Given the description of an element on the screen output the (x, y) to click on. 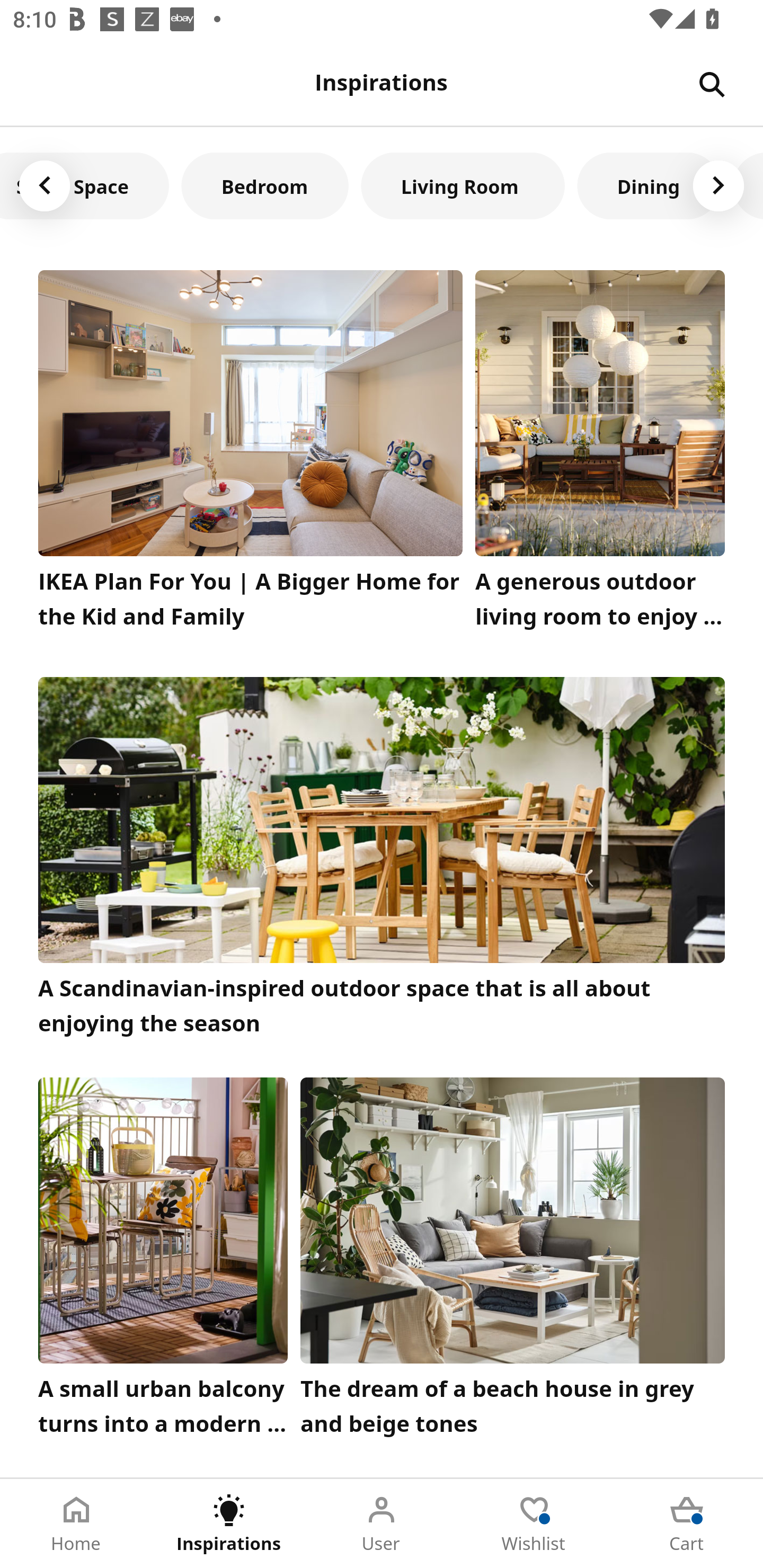
Bedroom (264, 185)
Living Room  (462, 185)
The dream of a beach house in grey and beige tones (512, 1261)
Home
Tab 1 of 5 (76, 1522)
Inspirations
Tab 2 of 5 (228, 1522)
User
Tab 3 of 5 (381, 1522)
Wishlist
Tab 4 of 5 (533, 1522)
Cart
Tab 5 of 5 (686, 1522)
